Given the description of an element on the screen output the (x, y) to click on. 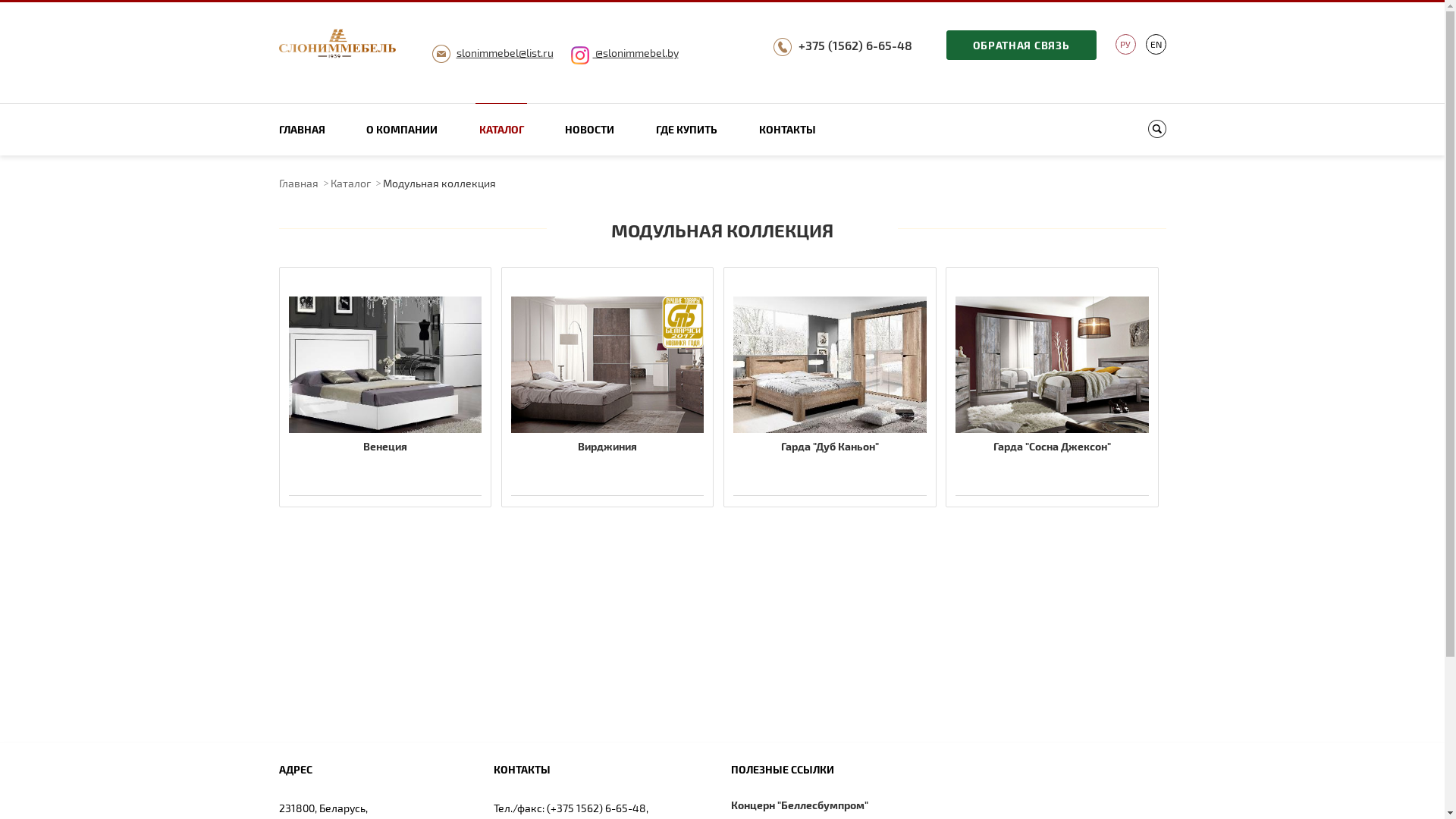
@slonimmebel.by Element type: text (623, 52)
logo r.jpg Element type: hover (337, 44)
EN Element type: text (1155, 44)
slonimmebel@list.ru Element type: text (504, 52)
+375 (1562) 6-65-48 Element type: text (854, 44)
